Given the description of an element on the screen output the (x, y) to click on. 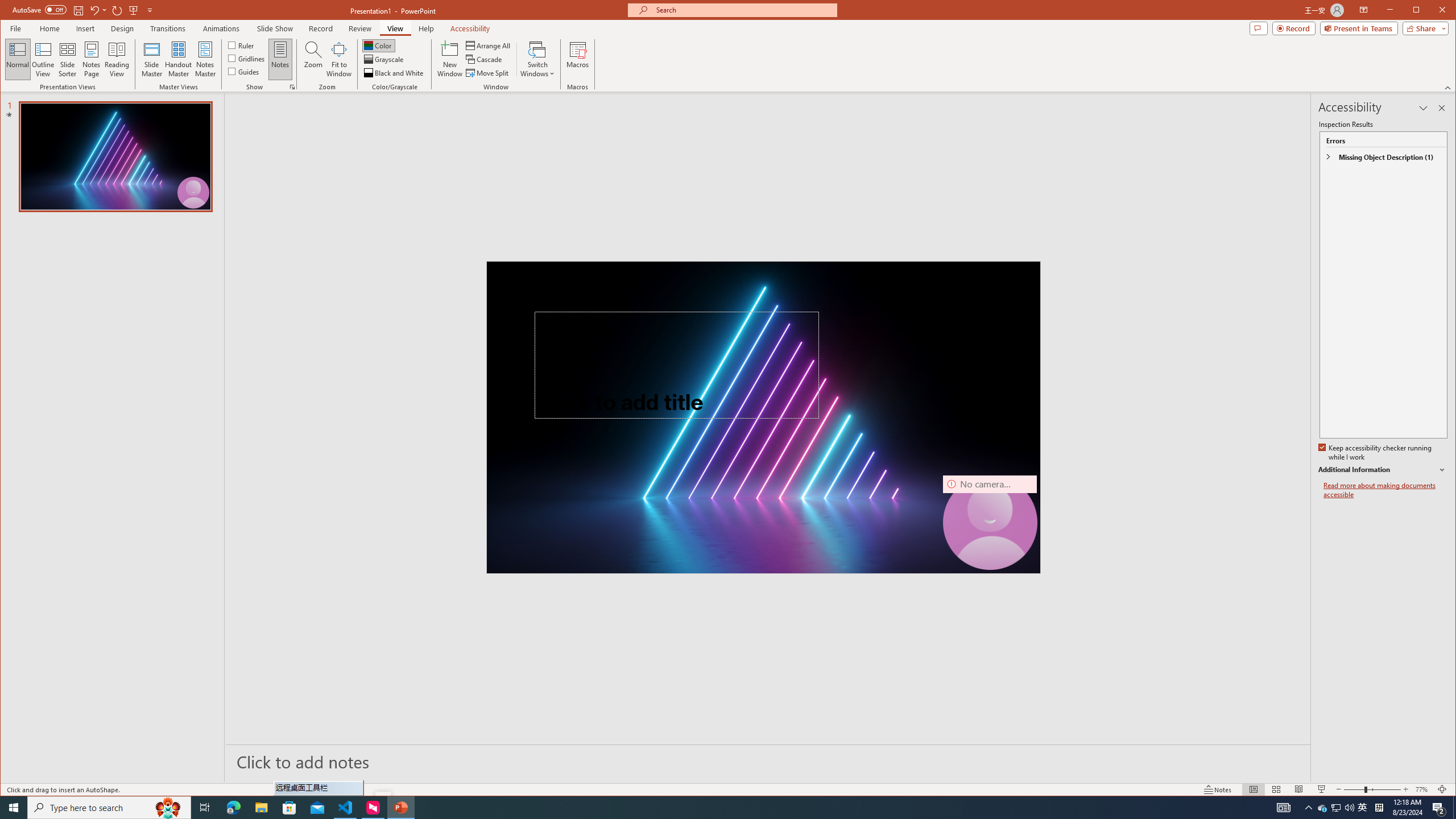
Arrange All (488, 45)
Notes Master (204, 59)
Color (378, 45)
Notes (279, 59)
